Given the description of an element on the screen output the (x, y) to click on. 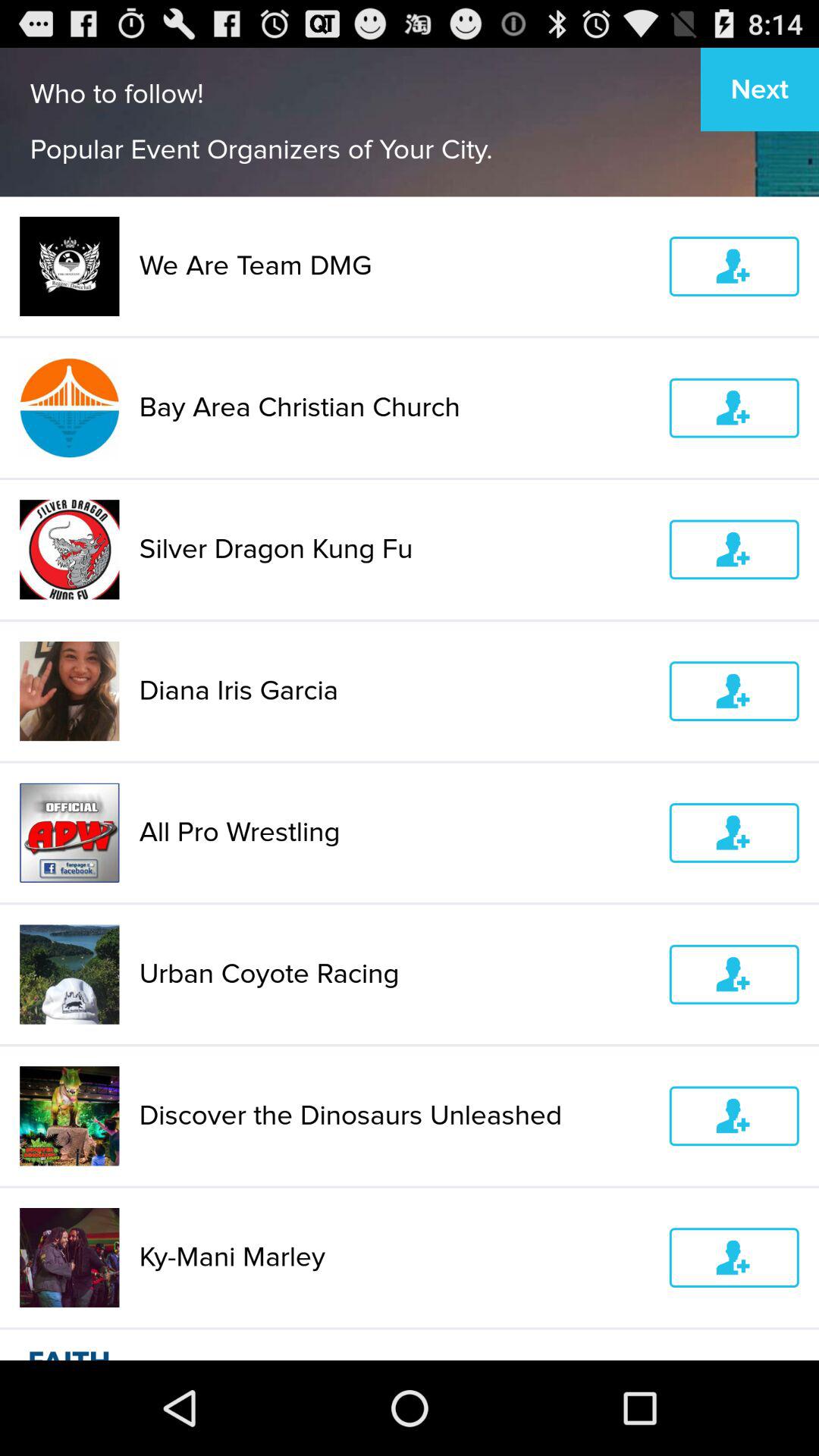
click the discover the dinosaurs item (394, 1115)
